Given the description of an element on the screen output the (x, y) to click on. 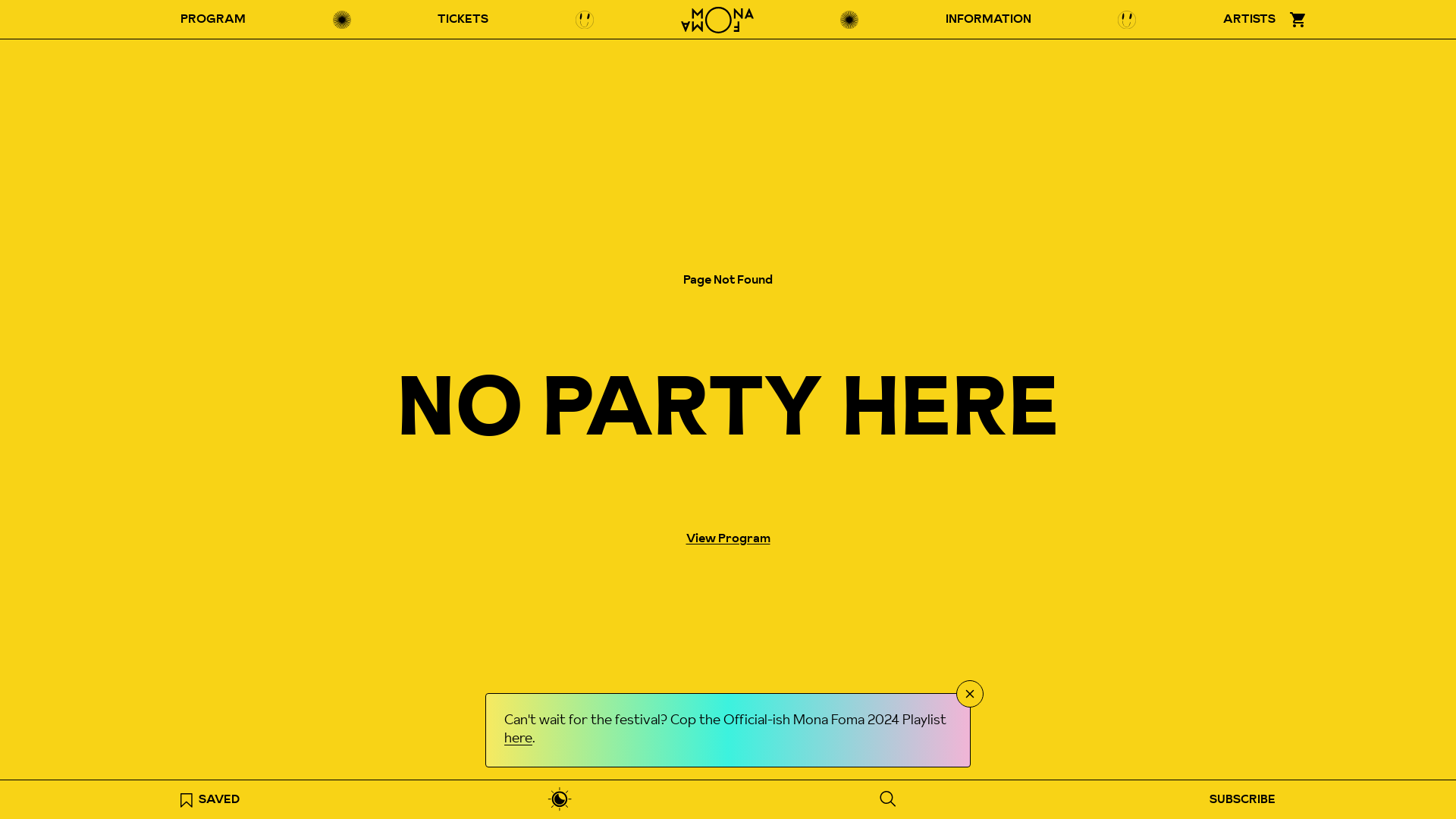
PROGRAM Element type: text (212, 19)
Search Element type: hover (887, 798)
SAVED Element type: text (209, 799)
INFORMATION Element type: text (988, 19)
here Element type: text (518, 739)
Mona Foma Element type: hover (716, 19)
View Program Element type: text (727, 538)
TICKETS Element type: text (462, 19)
ARTISTS Element type: text (1249, 19)
SUBSCRIBE Element type: text (1242, 799)
